Given the description of an element on the screen output the (x, y) to click on. 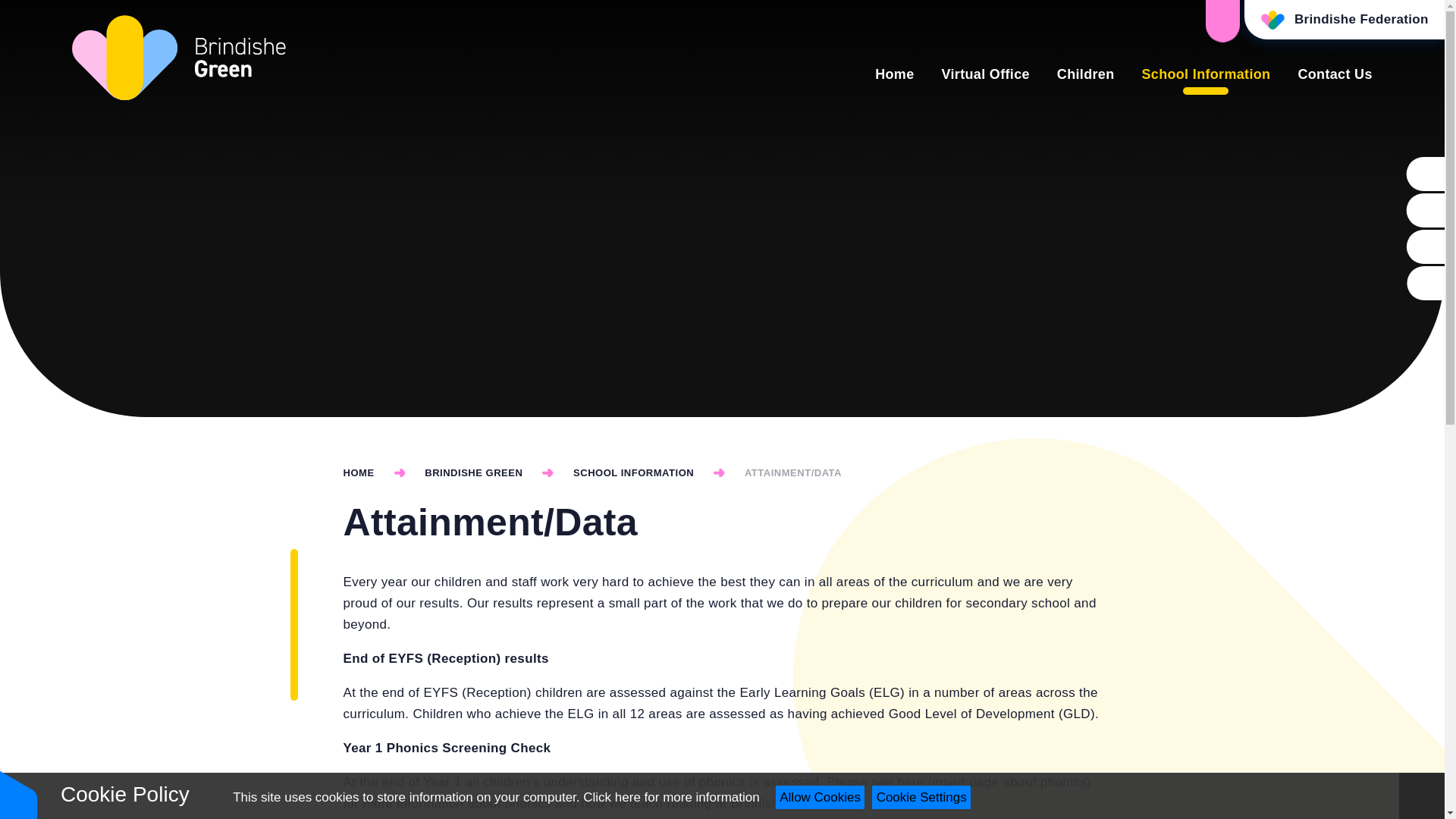
Home (894, 75)
Children (1086, 75)
Allow Cookies (820, 797)
Virtual Office (984, 75)
See cookie policy (670, 797)
Cookie Settings (921, 797)
